Given the description of an element on the screen output the (x, y) to click on. 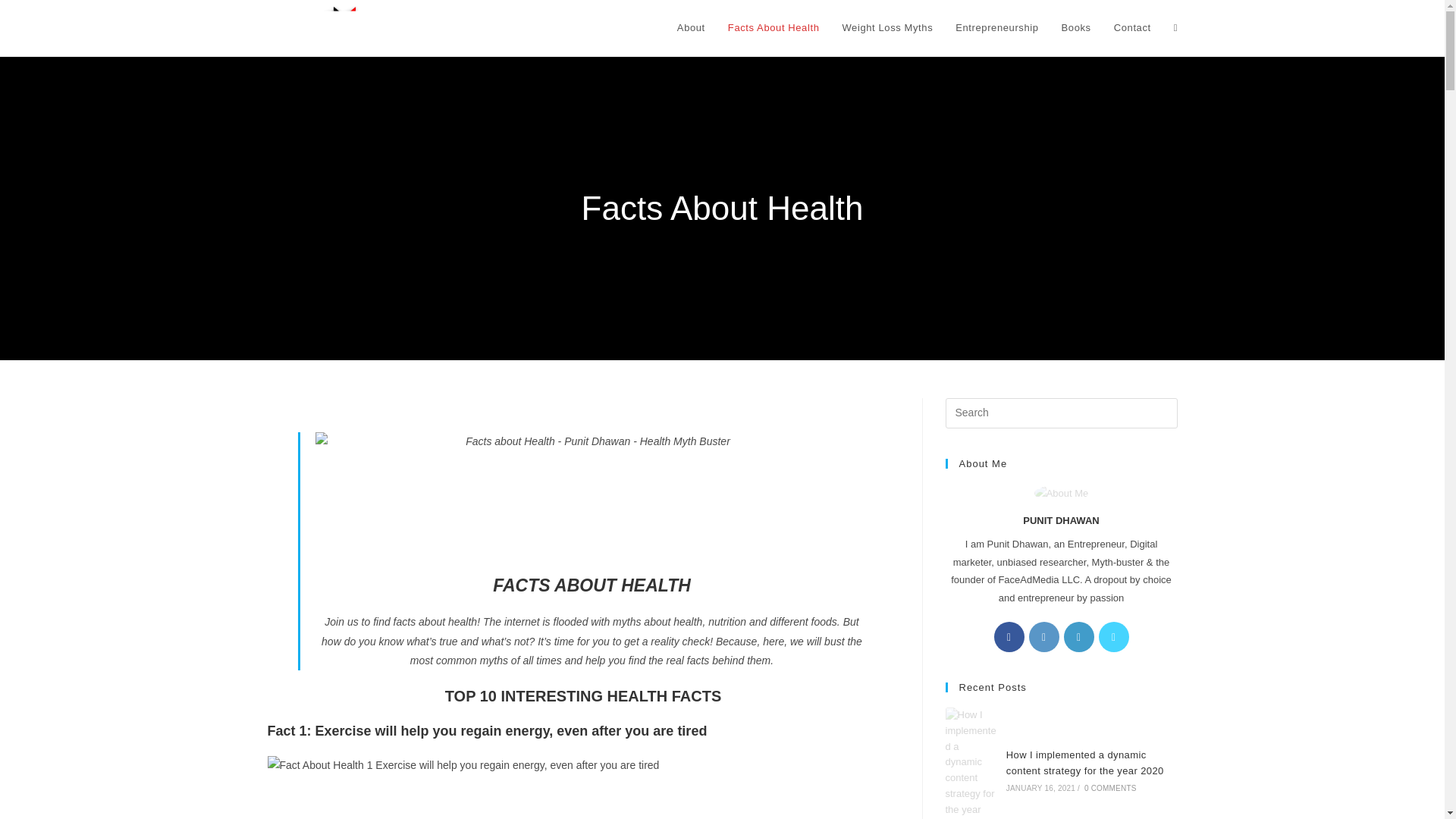
Entrepreneurship (996, 28)
Books (1075, 28)
About (690, 28)
Contact (1131, 28)
Facts About Health (773, 28)
Weight Loss Myths (886, 28)
